Given the description of an element on the screen output the (x, y) to click on. 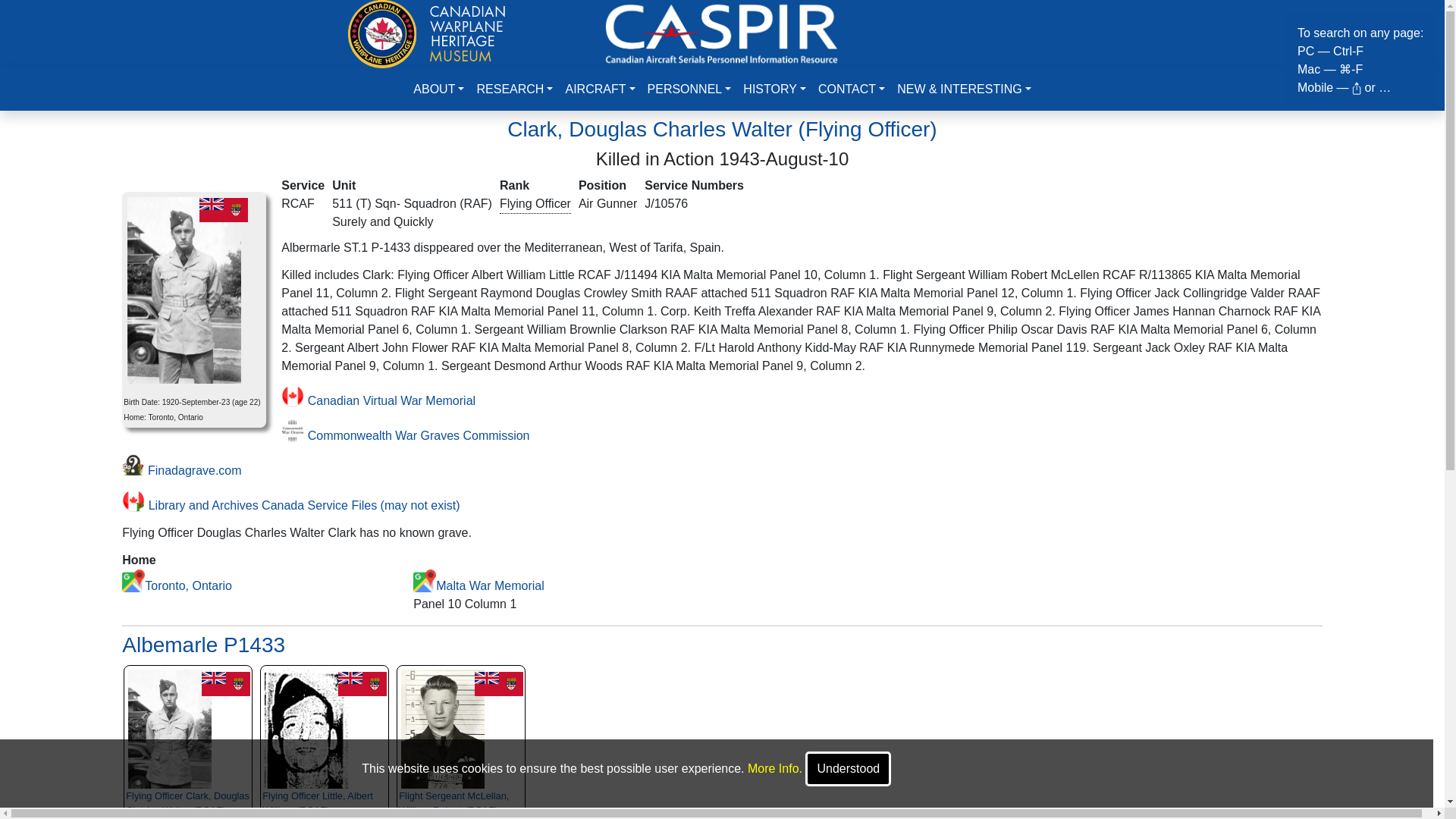
Click for Google Map (133, 580)
HISTORY (774, 89)
PERSONNEL (690, 89)
Return to our Home Page (426, 32)
AIRCRAFT (599, 89)
ABOUT (438, 89)
Refresh Page (722, 32)
RESEARCH (514, 89)
Click for Google Map (424, 580)
Canada (223, 209)
